Given the description of an element on the screen output the (x, y) to click on. 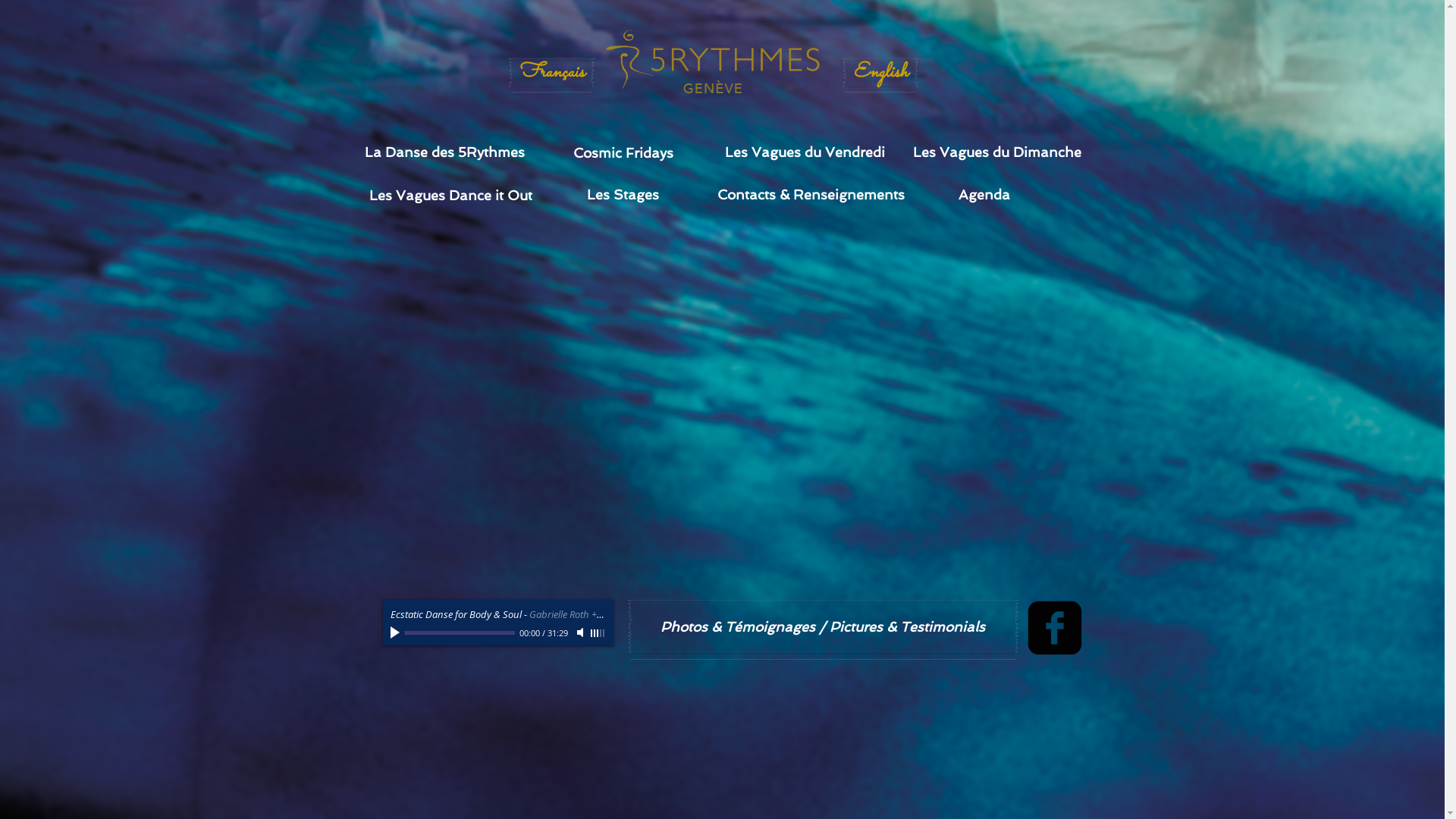
Les Vagues du Vendredi Element type: text (804, 152)
Contacts & Renseignements Element type: text (810, 194)
Cosmic Fridays Element type: text (622, 152)
English Element type: text (879, 72)
Les Vagues du Dimanche Element type: text (996, 152)
Les Stages Element type: text (622, 194)
La Danse des 5Rythmes Element type: text (443, 152)
Les Vagues Dance it Out Element type: text (450, 194)
Agenda Element type: text (983, 194)
